Given the description of an element on the screen output the (x, y) to click on. 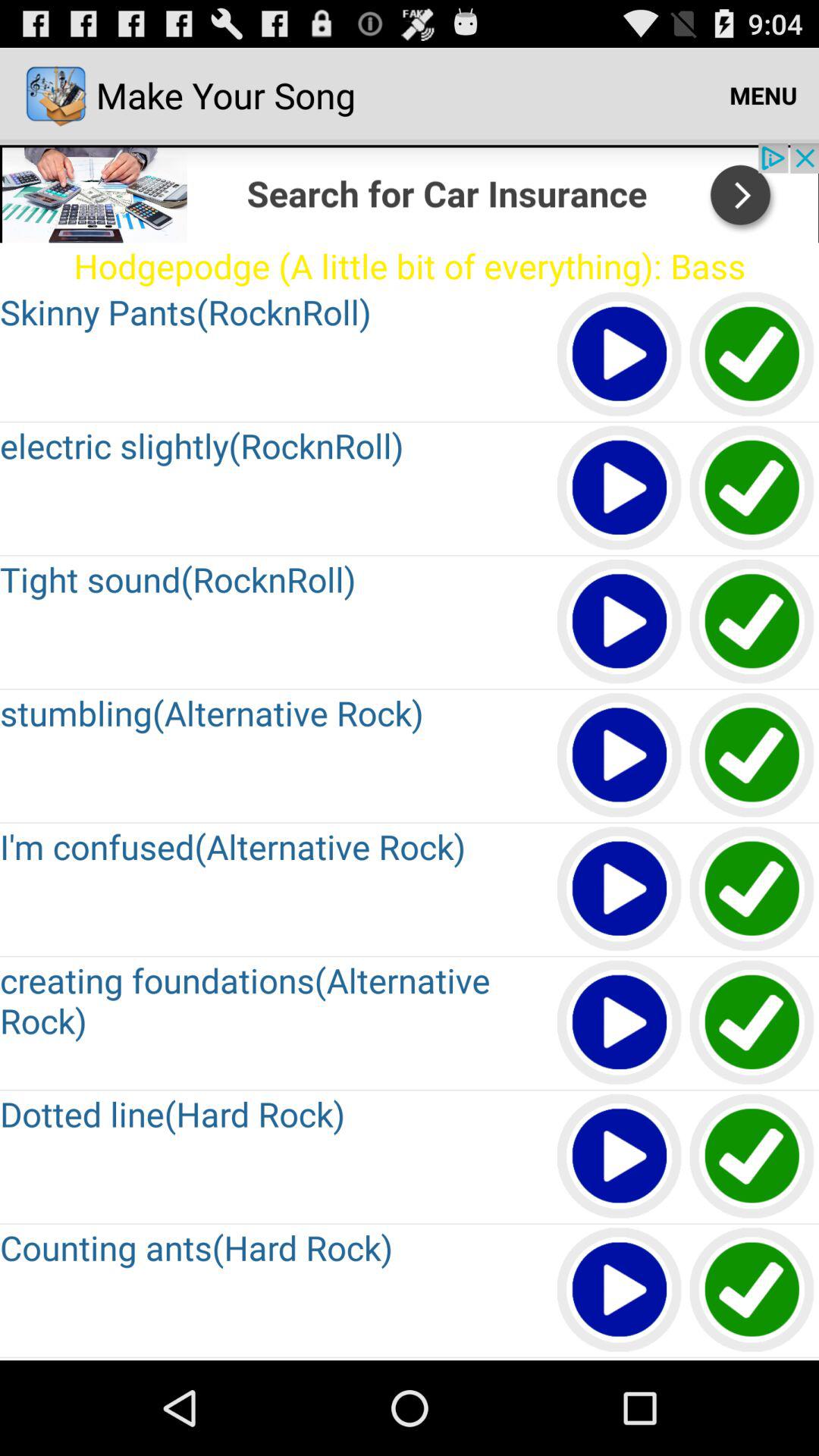
select the song (752, 622)
